Given the description of an element on the screen output the (x, y) to click on. 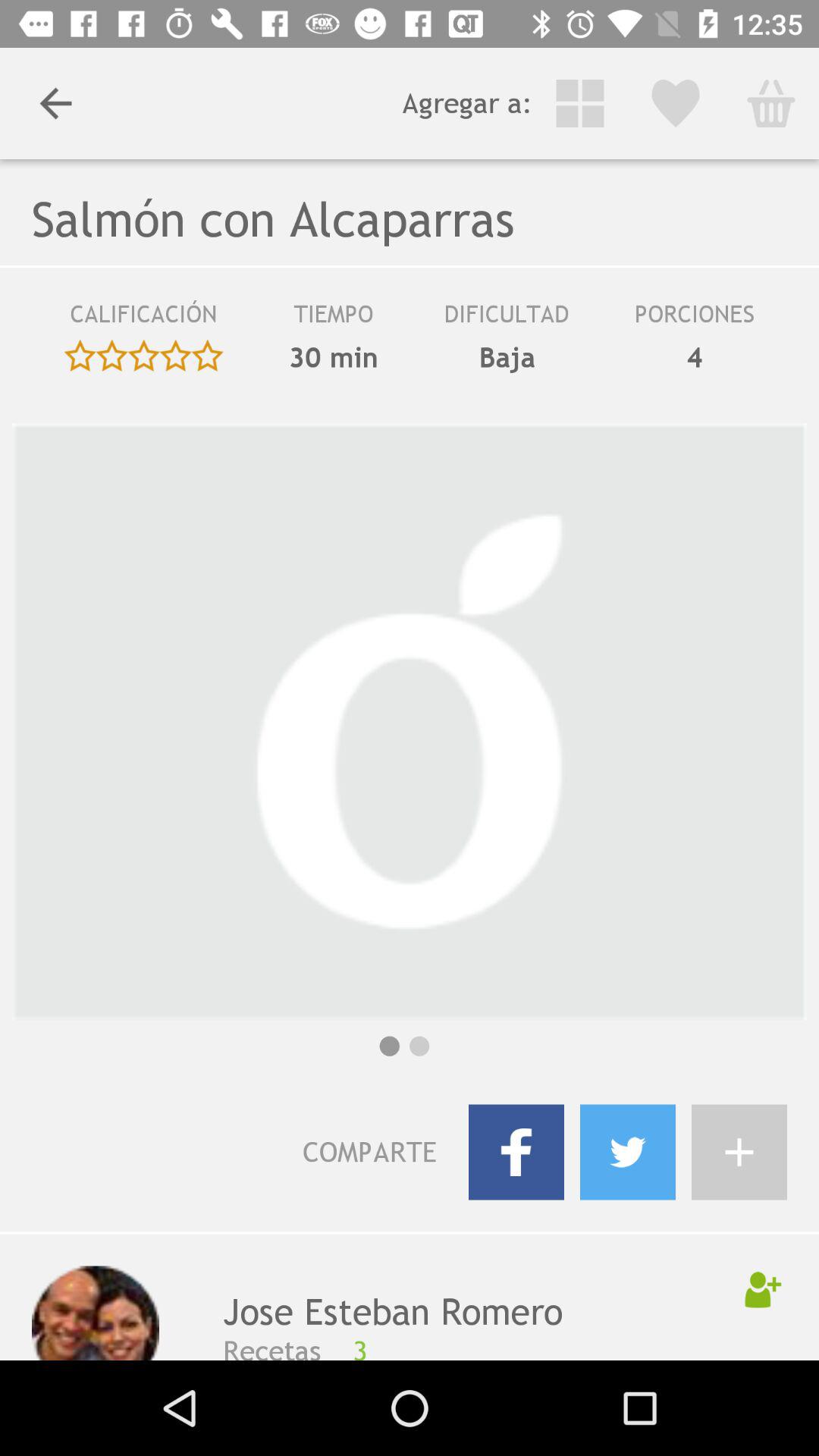
jump until porciones (694, 319)
